Given the description of an element on the screen output the (x, y) to click on. 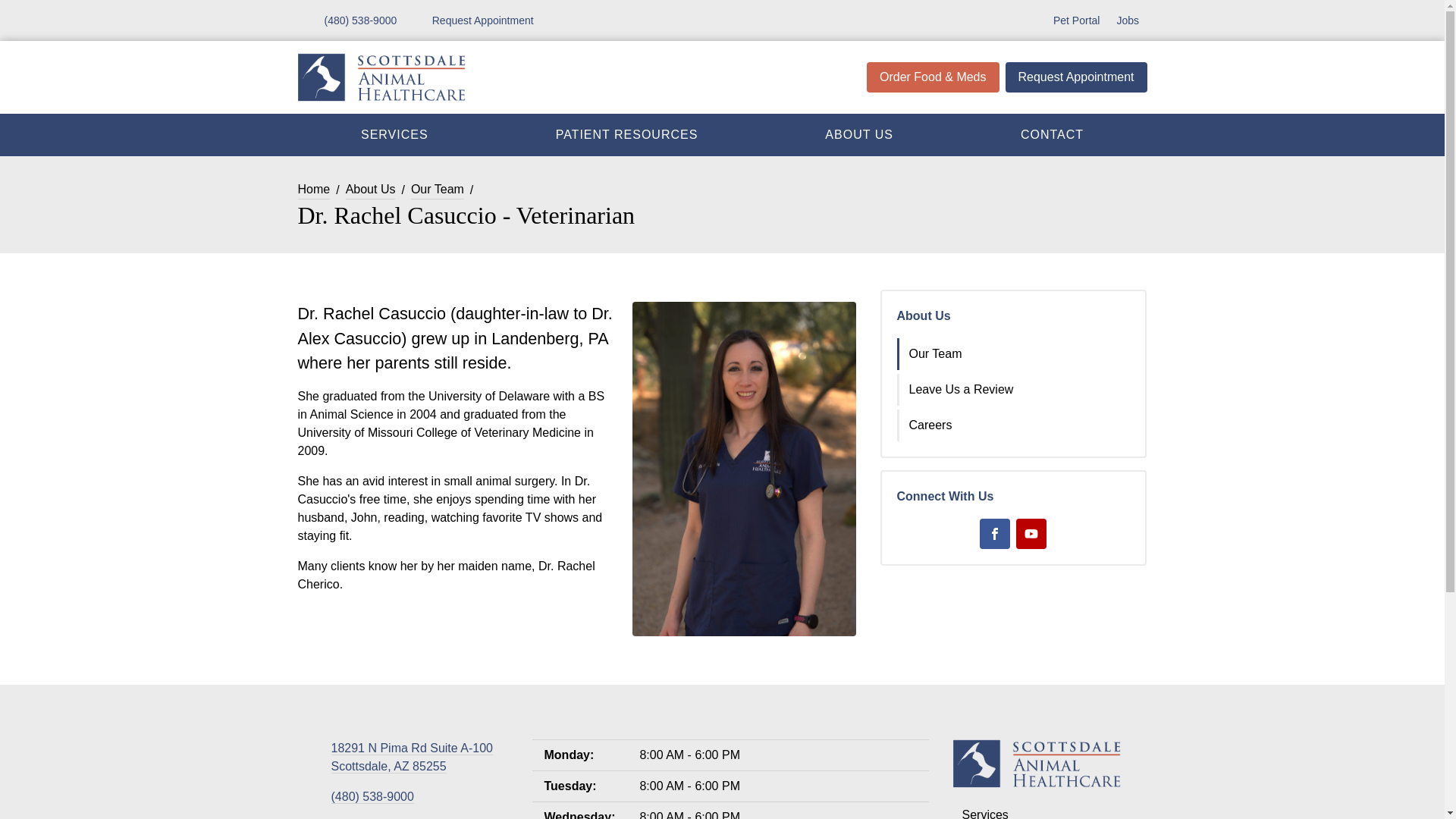
Our Team (437, 189)
Home (313, 189)
Open this Address on Google Maps (411, 757)
Call Us (411, 757)
CONTACT (371, 796)
Request Appointment (1051, 134)
Youtube (473, 20)
Our Team (1031, 533)
Careers (1015, 354)
